Given the description of an element on the screen output the (x, y) to click on. 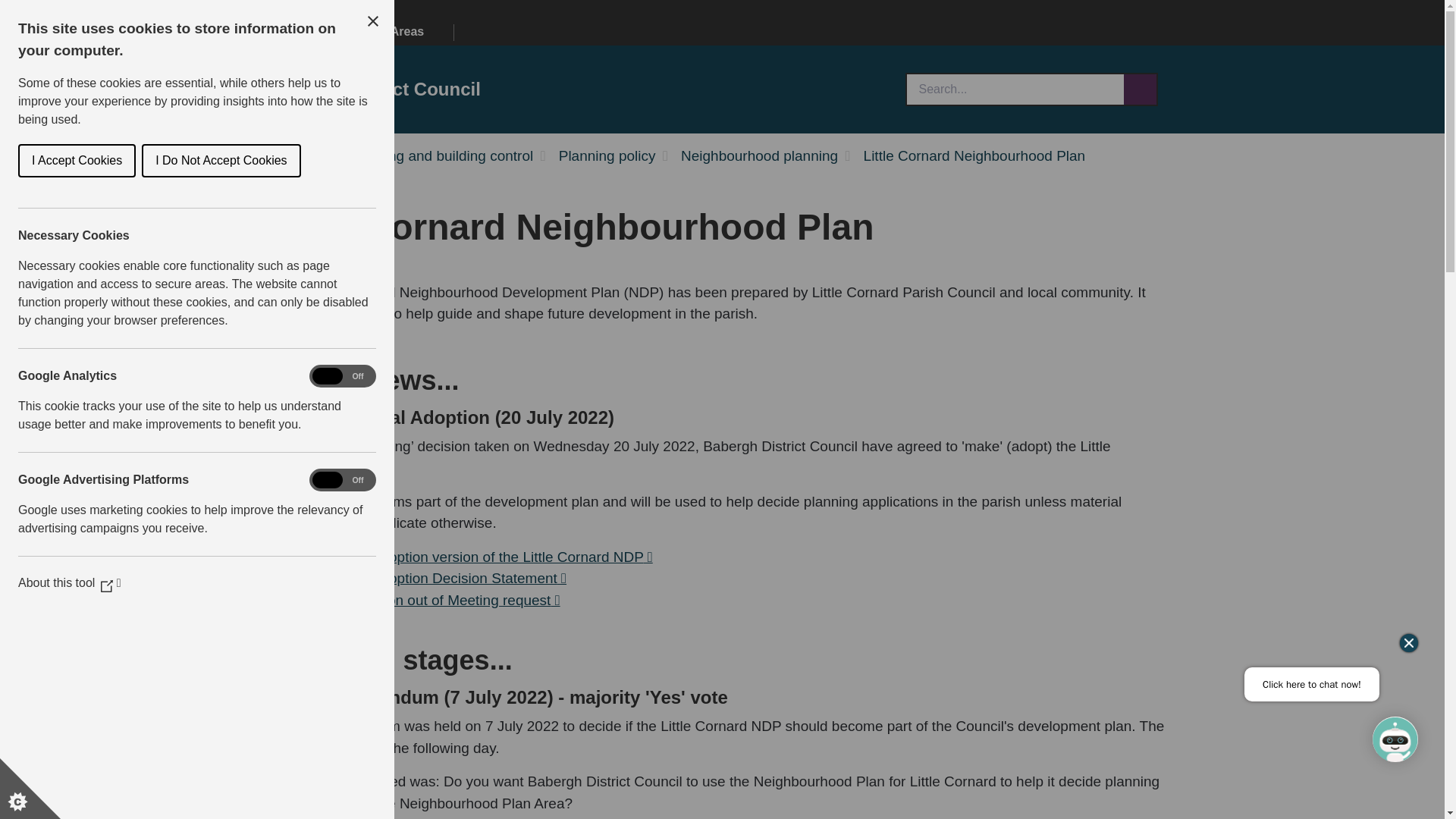
I Do Not Accept Cookies (143, 160)
Read the adoption version of the Little Cornard NDP (481, 556)
Search (1015, 89)
Neighbourhood planning (759, 156)
Planning and building control (439, 156)
Open chatbot (1395, 739)
Home (304, 31)
Skip to Main Content (6, 6)
Planning policy (607, 156)
Close introduction text popup (1408, 642)
Read the adoption Decision Statement (439, 578)
Home (305, 156)
Service Areas (391, 32)
See the Action out of Meeting request (435, 599)
Chatbot introduction popup text (1311, 684)
